Given the description of an element on the screen output the (x, y) to click on. 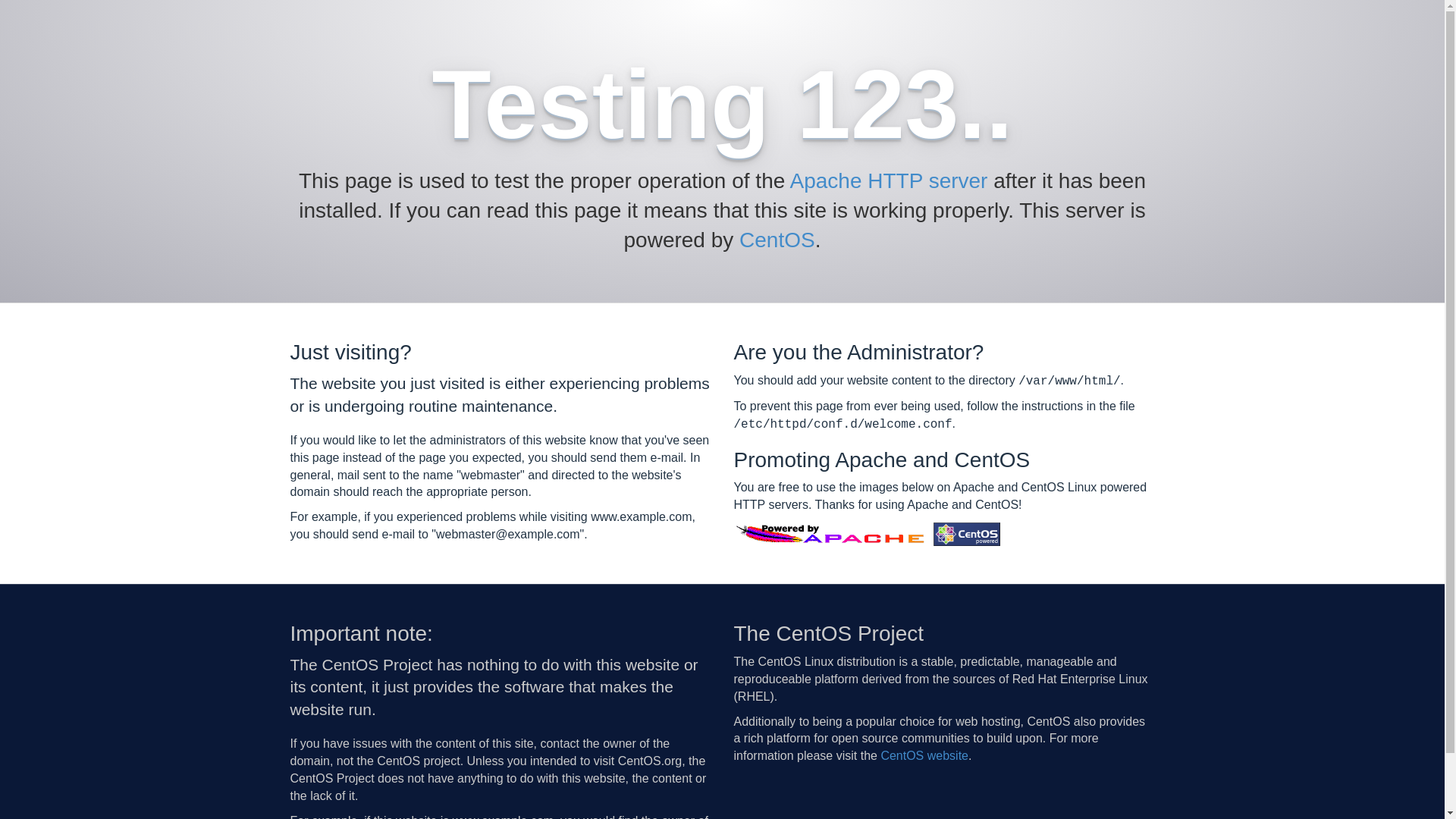
CentOS Element type: text (777, 239)
CentOS website Element type: text (924, 755)
Apache HTTP server Element type: text (889, 180)
